Given the description of an element on the screen output the (x, y) to click on. 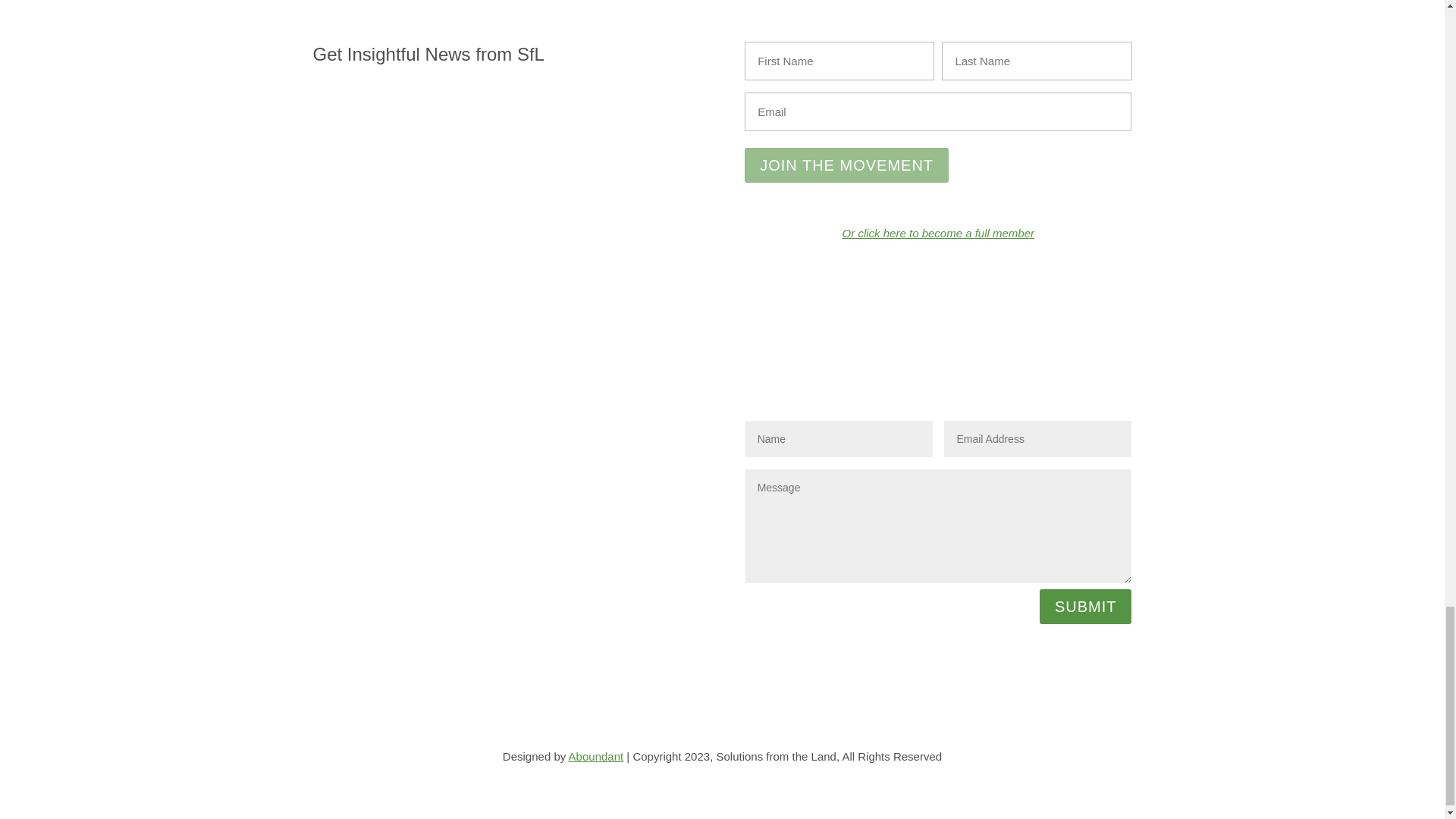
Follow on Facebook (540, 428)
Join The Movement (846, 165)
Follow on X (571, 428)
